Given the description of an element on the screen output the (x, y) to click on. 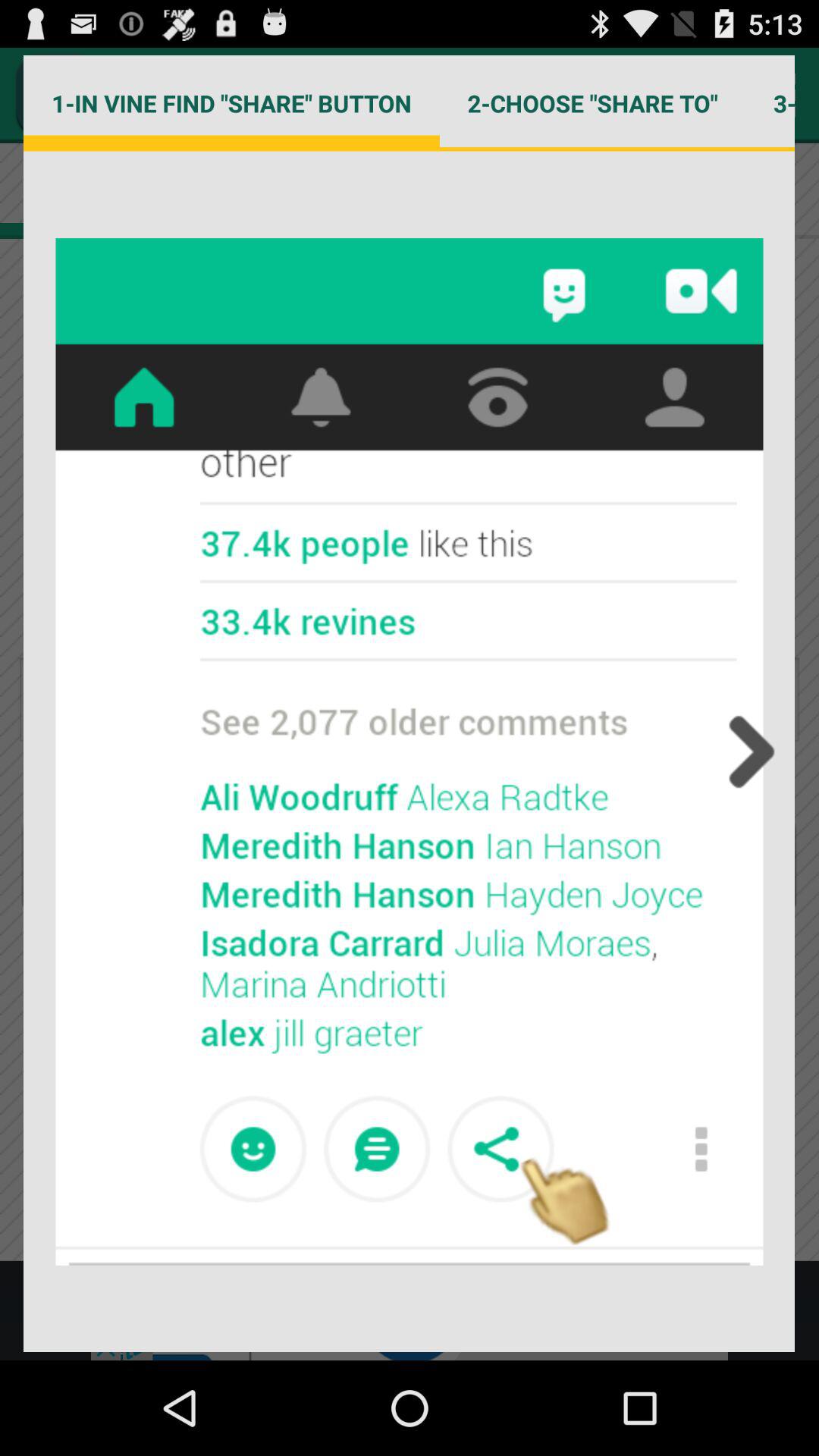
click 3-choose vdownloadr (770, 103)
